Given the description of an element on the screen output the (x, y) to click on. 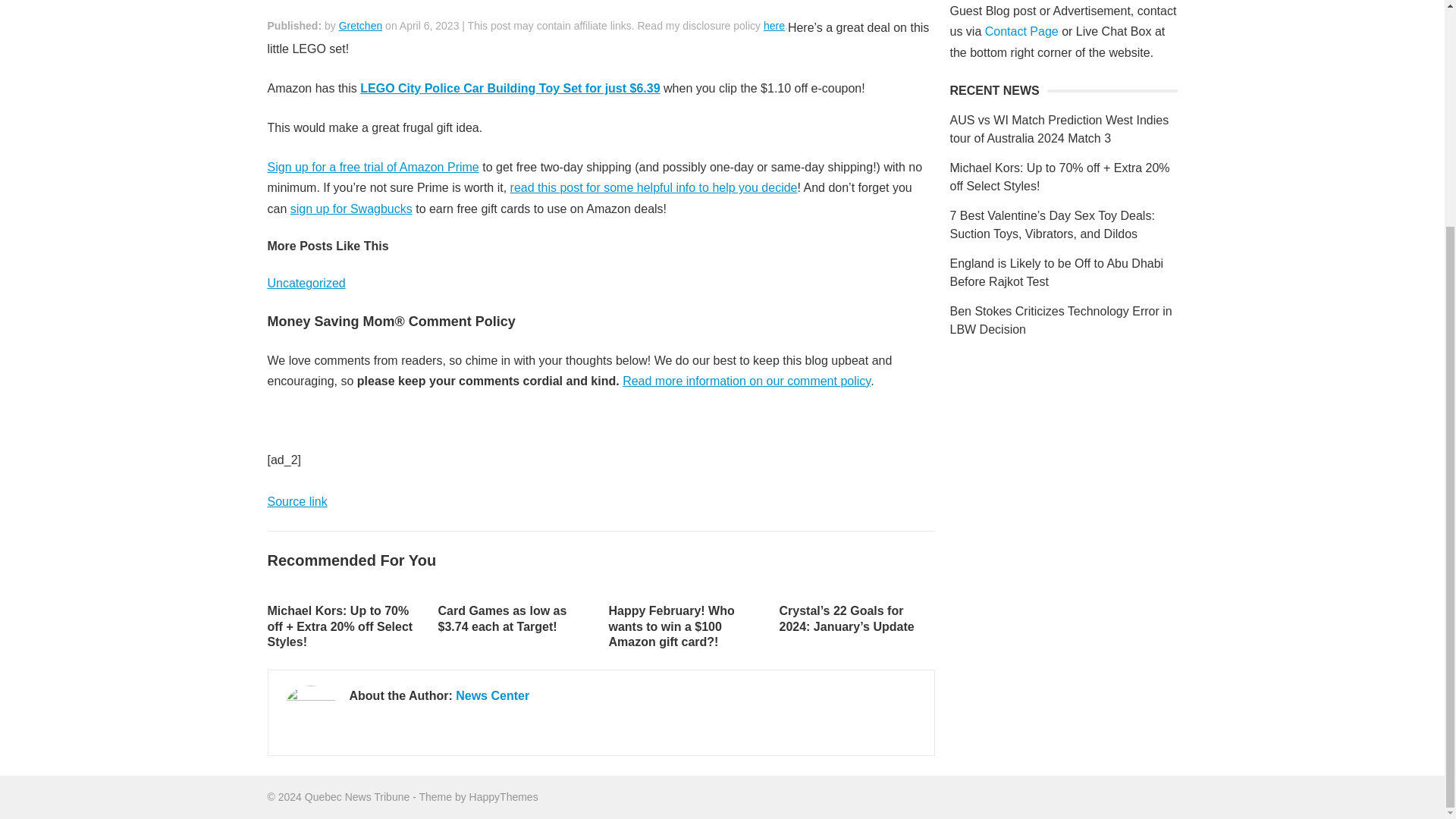
Gretchen (360, 25)
